Given the description of an element on the screen output the (x, y) to click on. 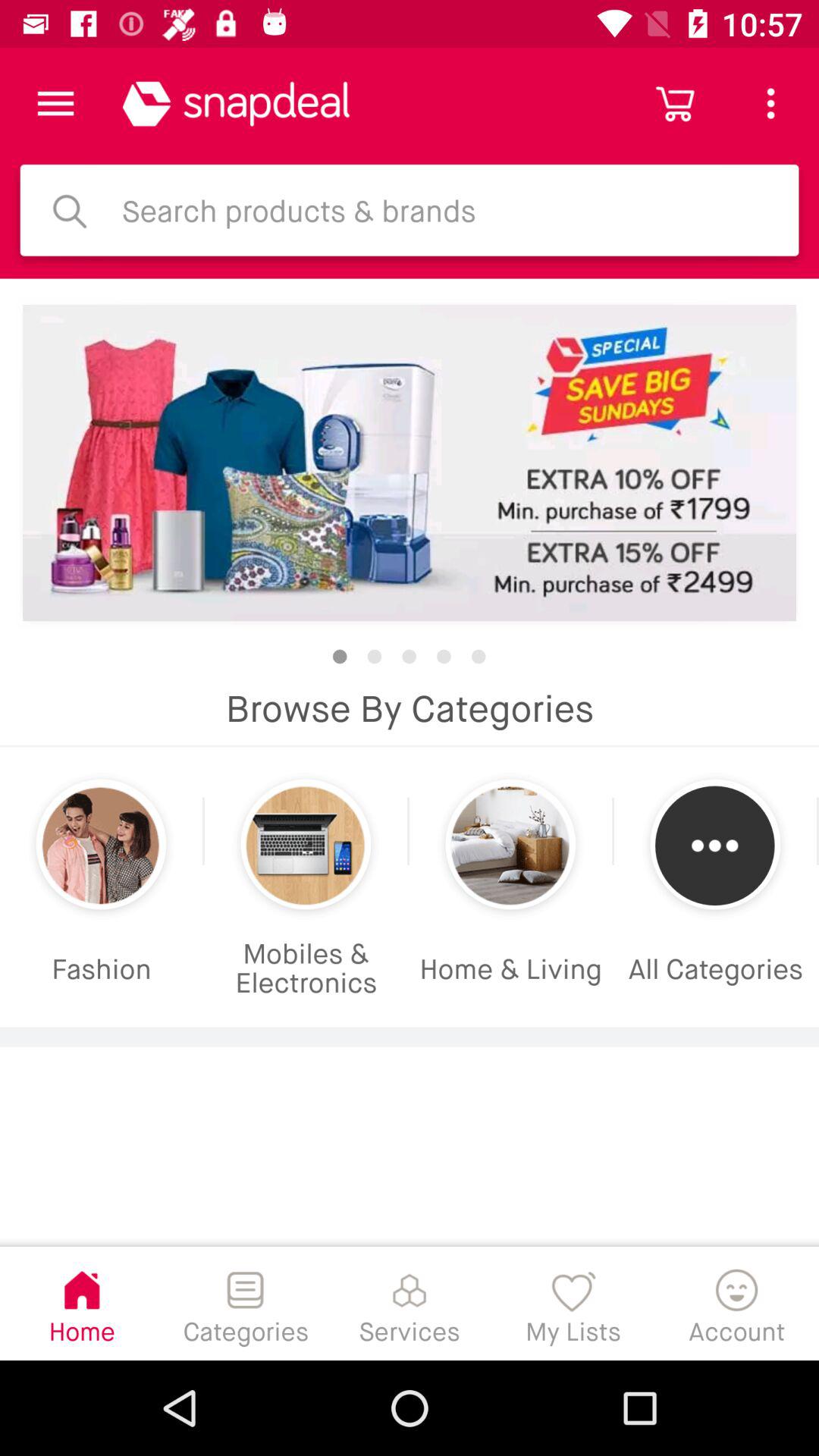
click the my lists item (573, 1303)
